Given the description of an element on the screen output the (x, y) to click on. 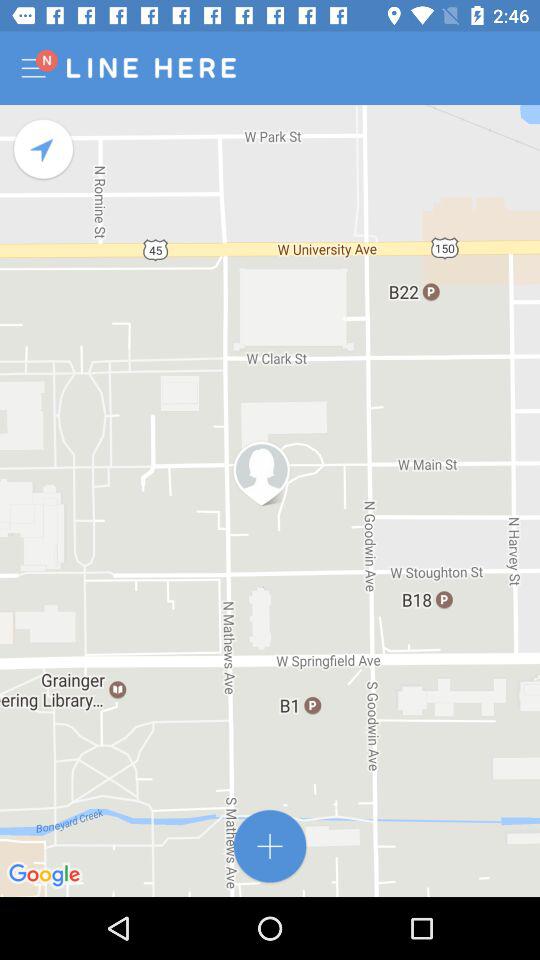
gps locator (44, 149)
